Given the description of an element on the screen output the (x, y) to click on. 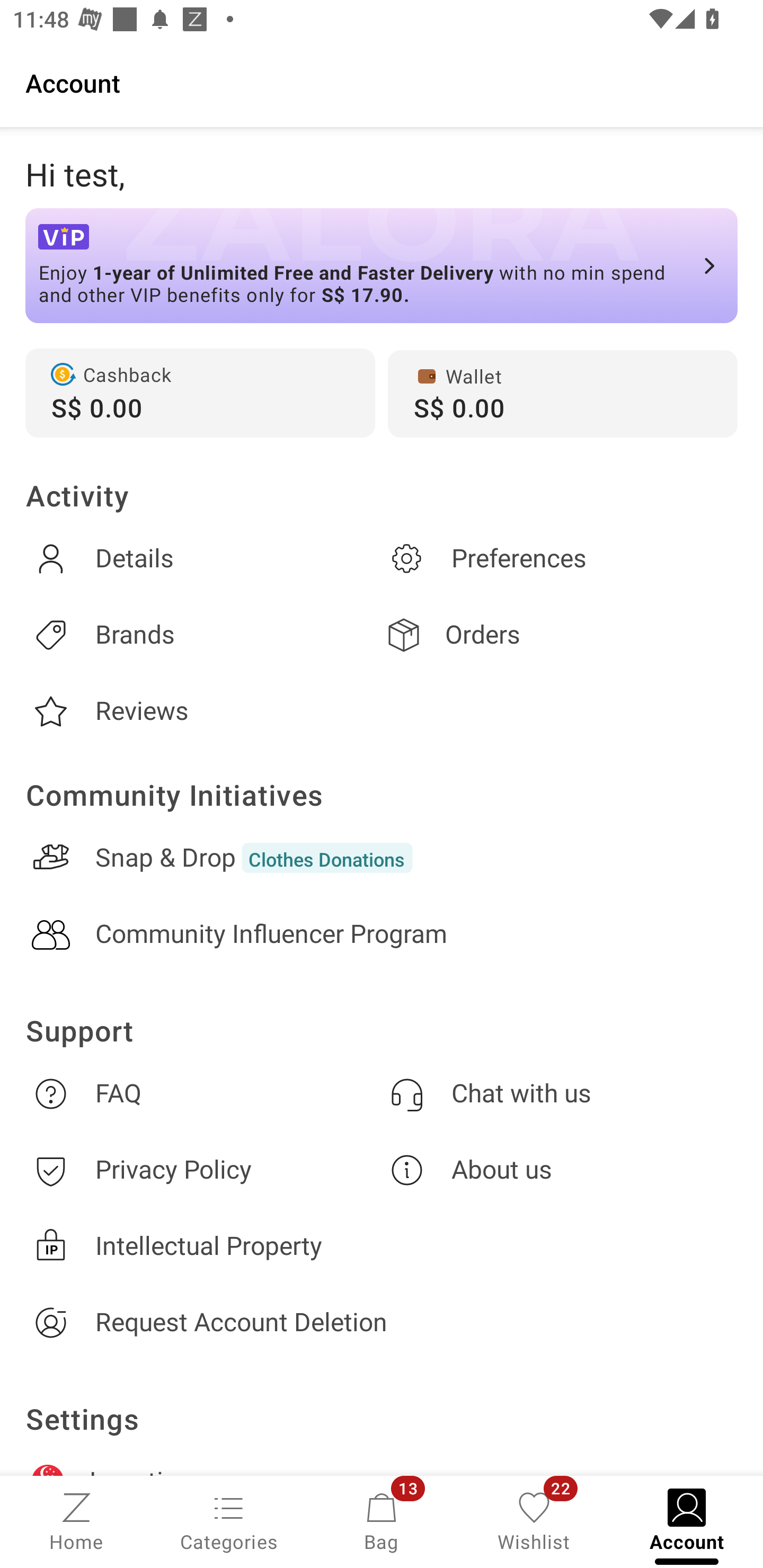
Account (381, 82)
Details (203, 558)
Preferences (559, 558)
Brands (203, 634)
Orders (559, 634)
Reviews (203, 710)
Snap & DropClothes Donations (381, 858)
Community Influencer Program (381, 934)
FAQ (203, 1093)
Chat with us (559, 1093)
Privacy Policy (203, 1170)
About us (559, 1170)
Intellectual Property (381, 1246)
Request Account Deletion (381, 1322)
Home (76, 1519)
Categories (228, 1519)
Bag, 13 new notifications Bag (381, 1519)
Wishlist, 22 new notifications Wishlist (533, 1519)
